Given the description of an element on the screen output the (x, y) to click on. 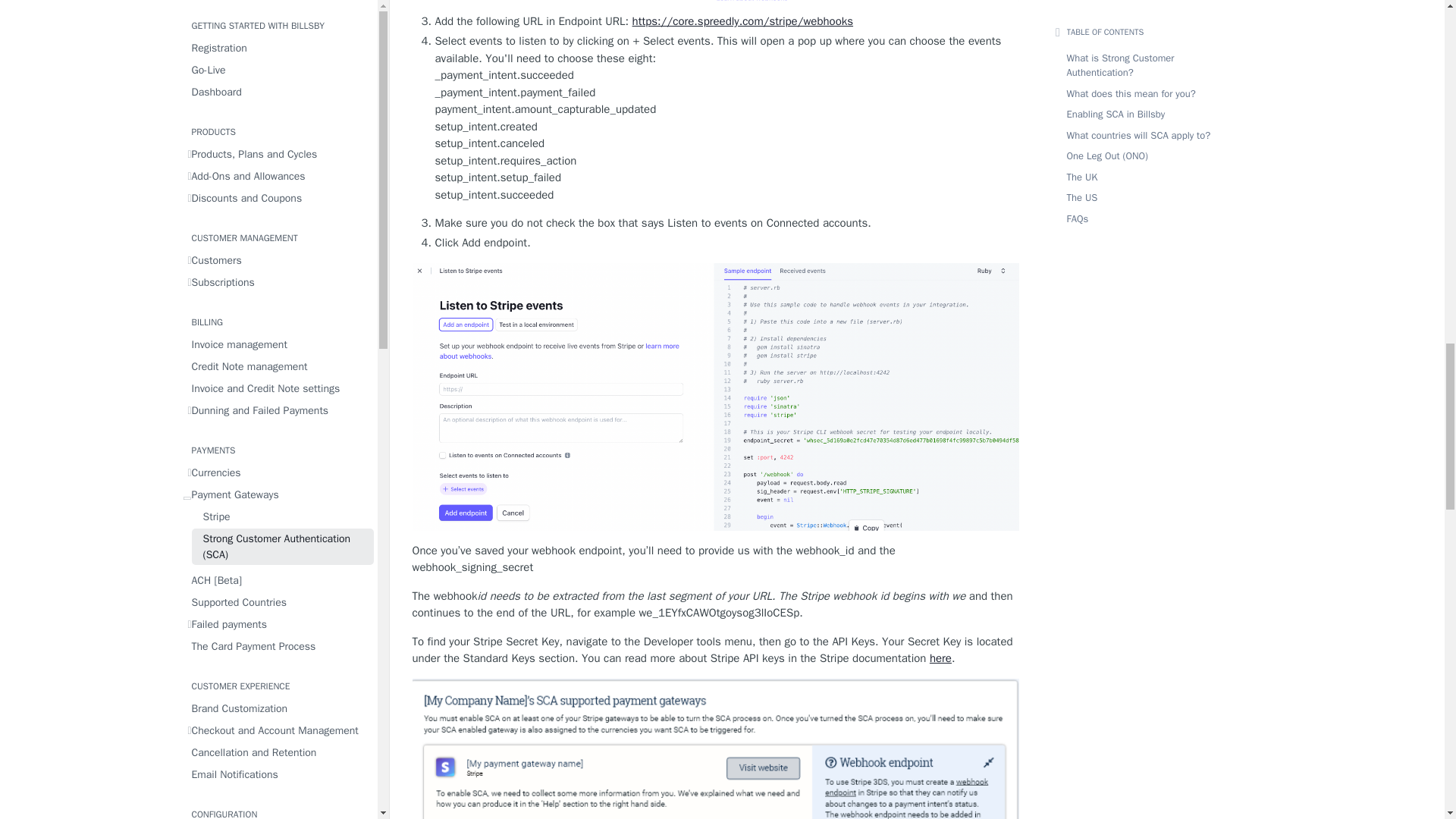
909190e-e57deb3-Capture1.PNG (715, 748)
